Given the description of an element on the screen output the (x, y) to click on. 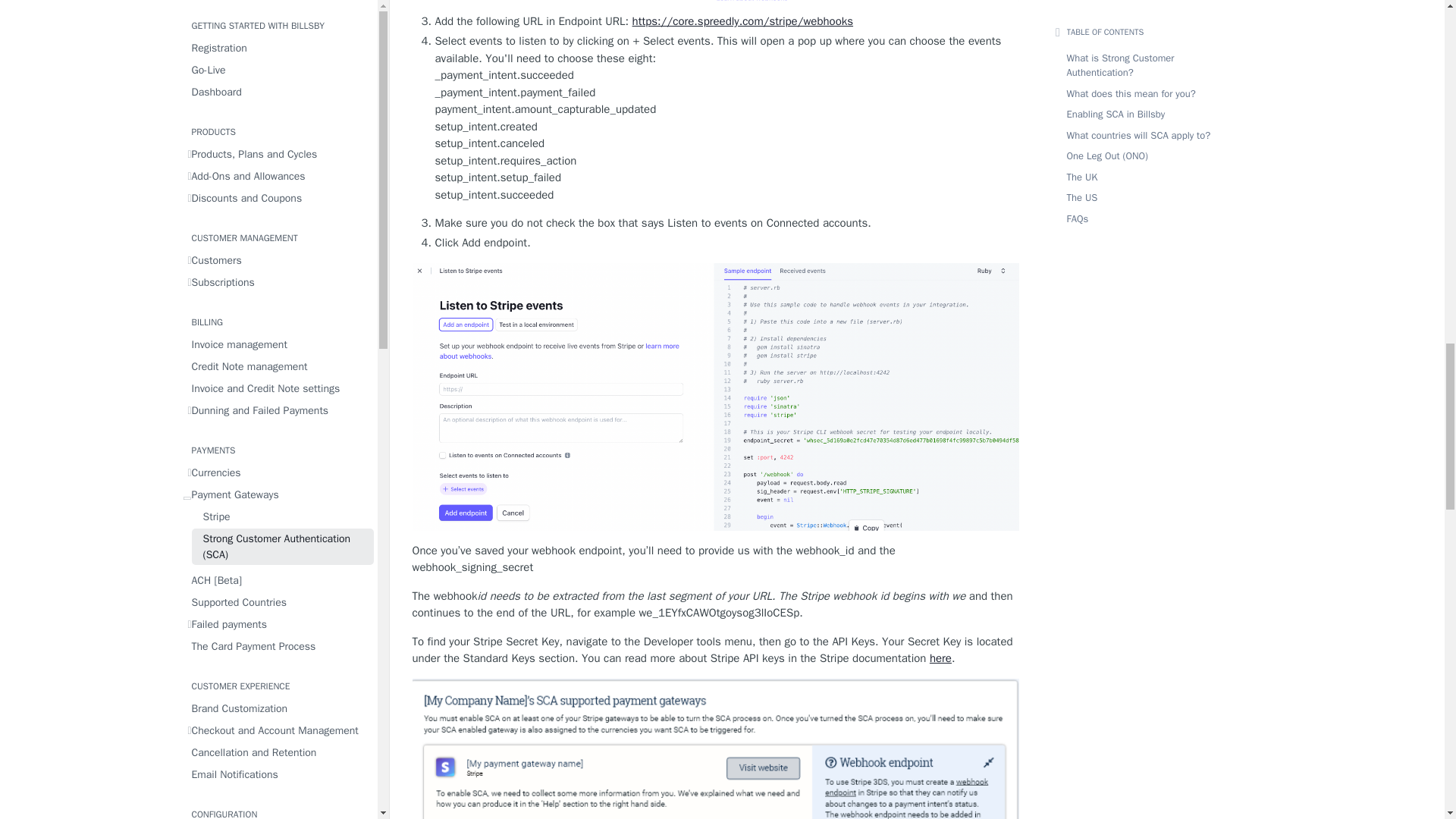
909190e-e57deb3-Capture1.PNG (715, 748)
